Given the description of an element on the screen output the (x, y) to click on. 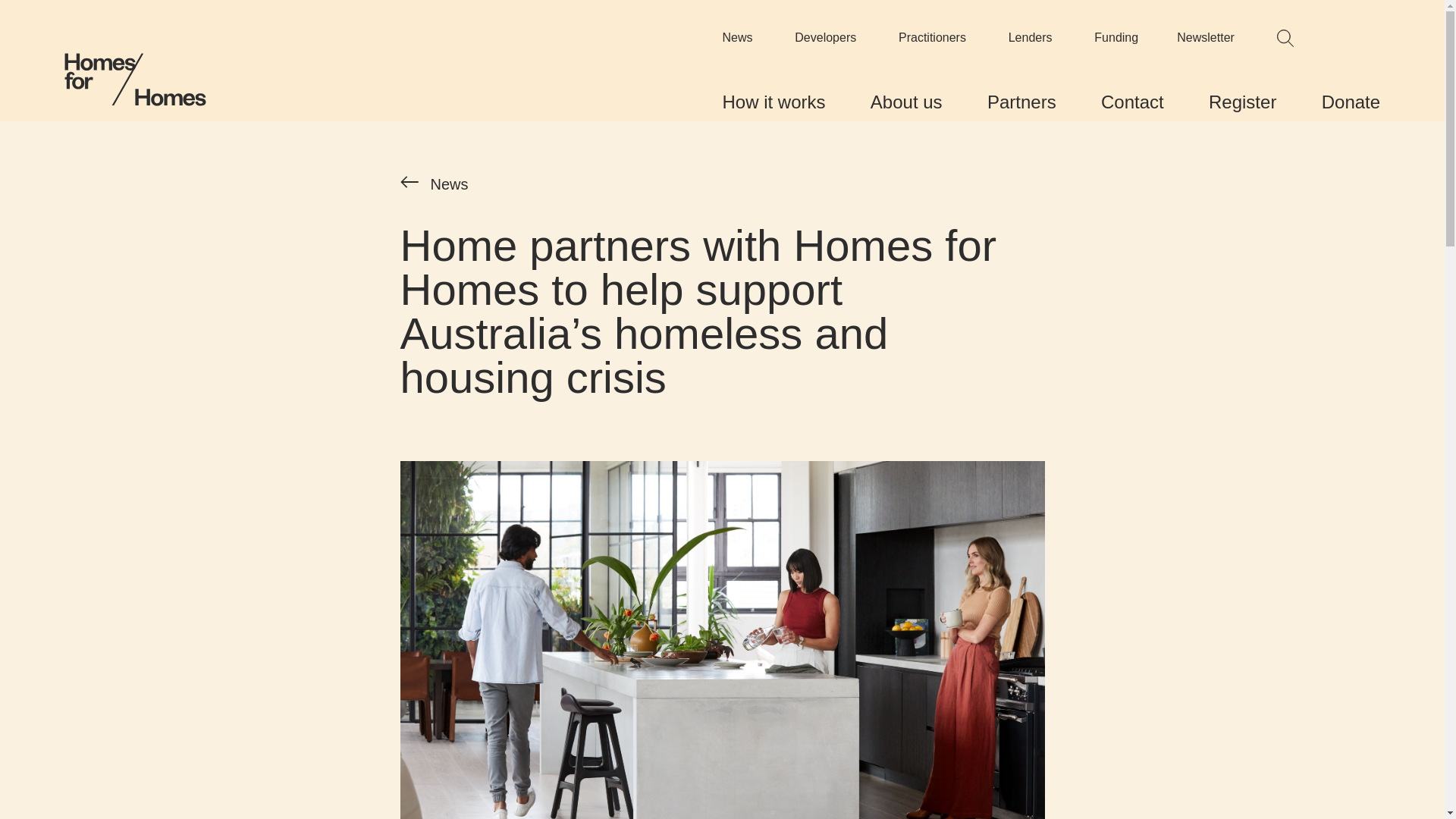
Partners Element type: text (1021, 101)
About us Element type: text (906, 101)
Funding Element type: text (1116, 37)
Homes for Homes Element type: hover (135, 79)
How it works Element type: text (773, 101)
Newsletter Element type: text (1205, 37)
News Element type: text (434, 183)
Lenders Element type: text (1030, 37)
News Element type: text (736, 37)
Developers Element type: text (825, 37)
Practitioners Element type: text (932, 37)
Donate Element type: text (1350, 101)
Contact Element type: text (1132, 101)
Register Element type: text (1242, 101)
